Given the description of an element on the screen output the (x, y) to click on. 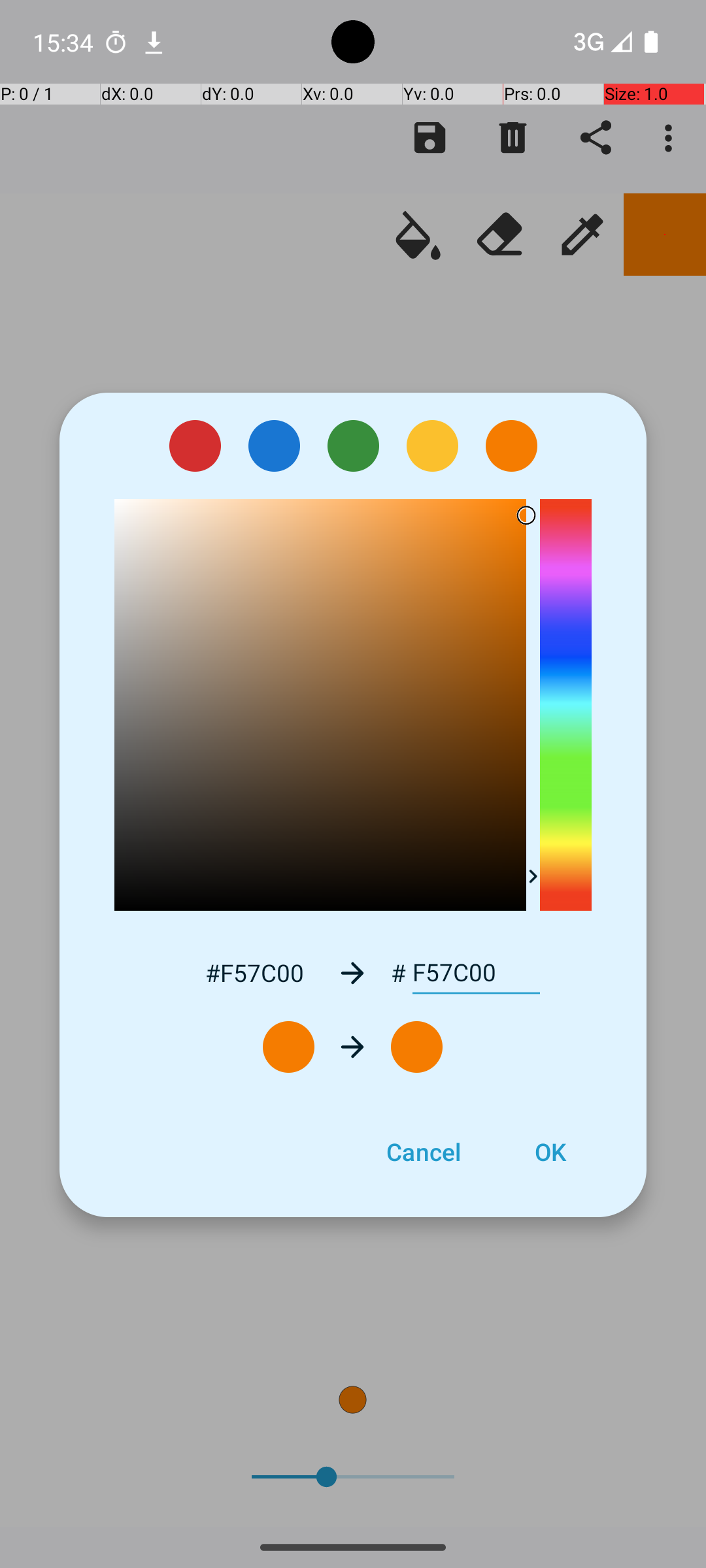
F57C00 Element type: android.widget.EditText (475, 972)
